Given the description of an element on the screen output the (x, y) to click on. 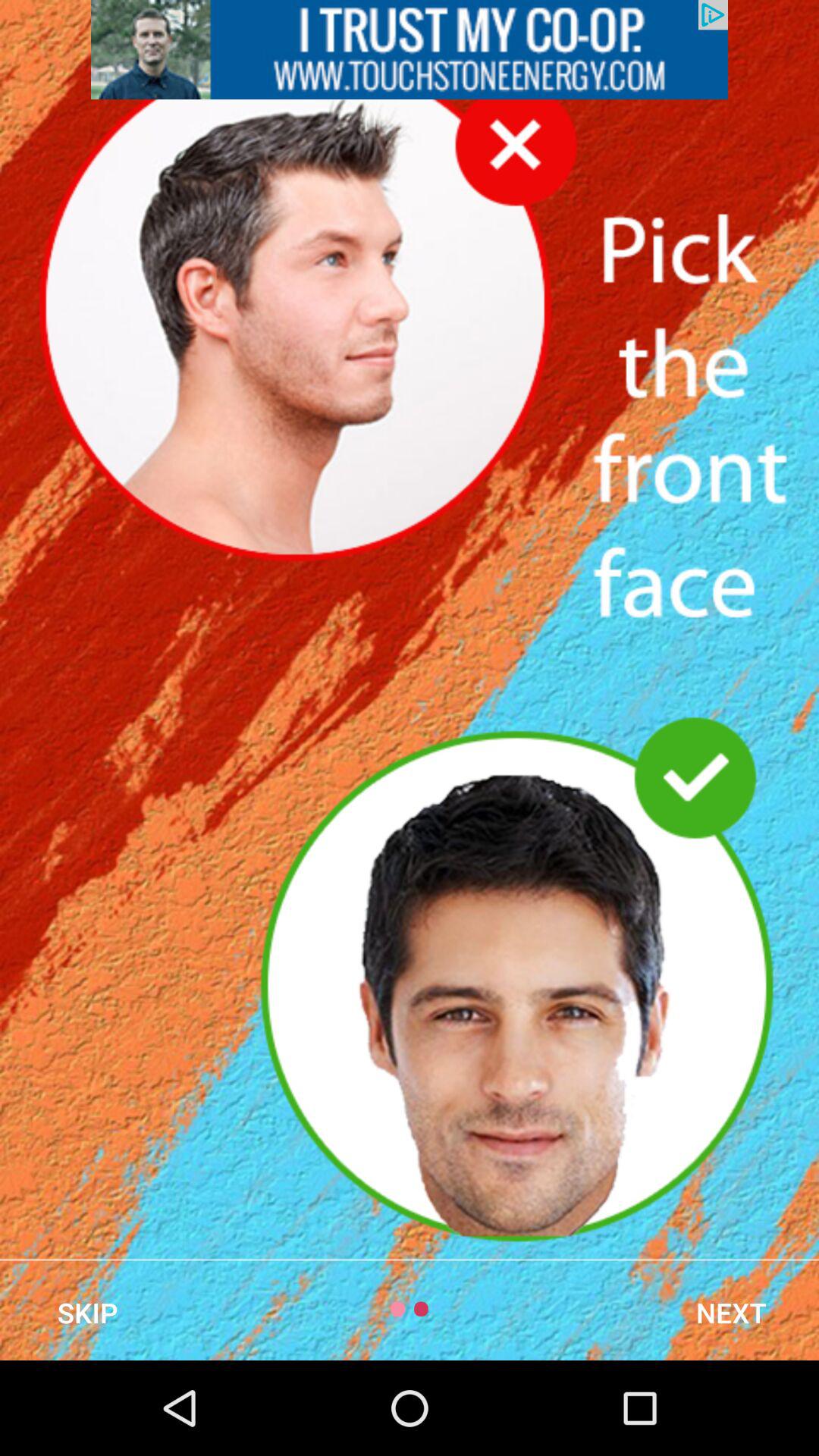
go to advertisement (409, 49)
